Given the description of an element on the screen output the (x, y) to click on. 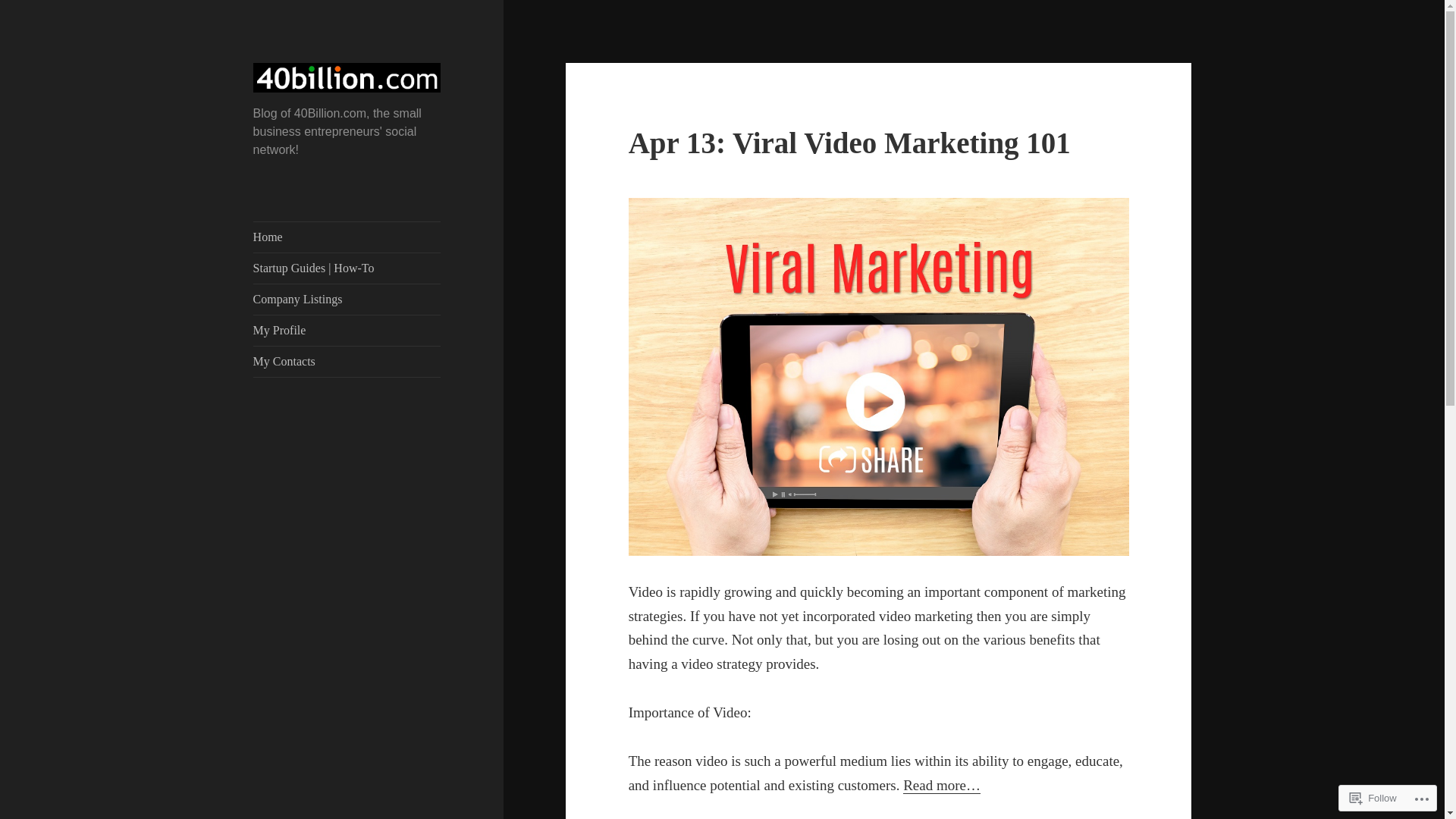
Company Listings Element type: text (347, 299)
Follow Element type: text (1372, 797)
Startup Guides | How-To Element type: text (347, 268)
Home Element type: text (347, 237)
My Profile Element type: text (347, 330)
My Contacts Element type: text (347, 361)
